Given the description of an element on the screen output the (x, y) to click on. 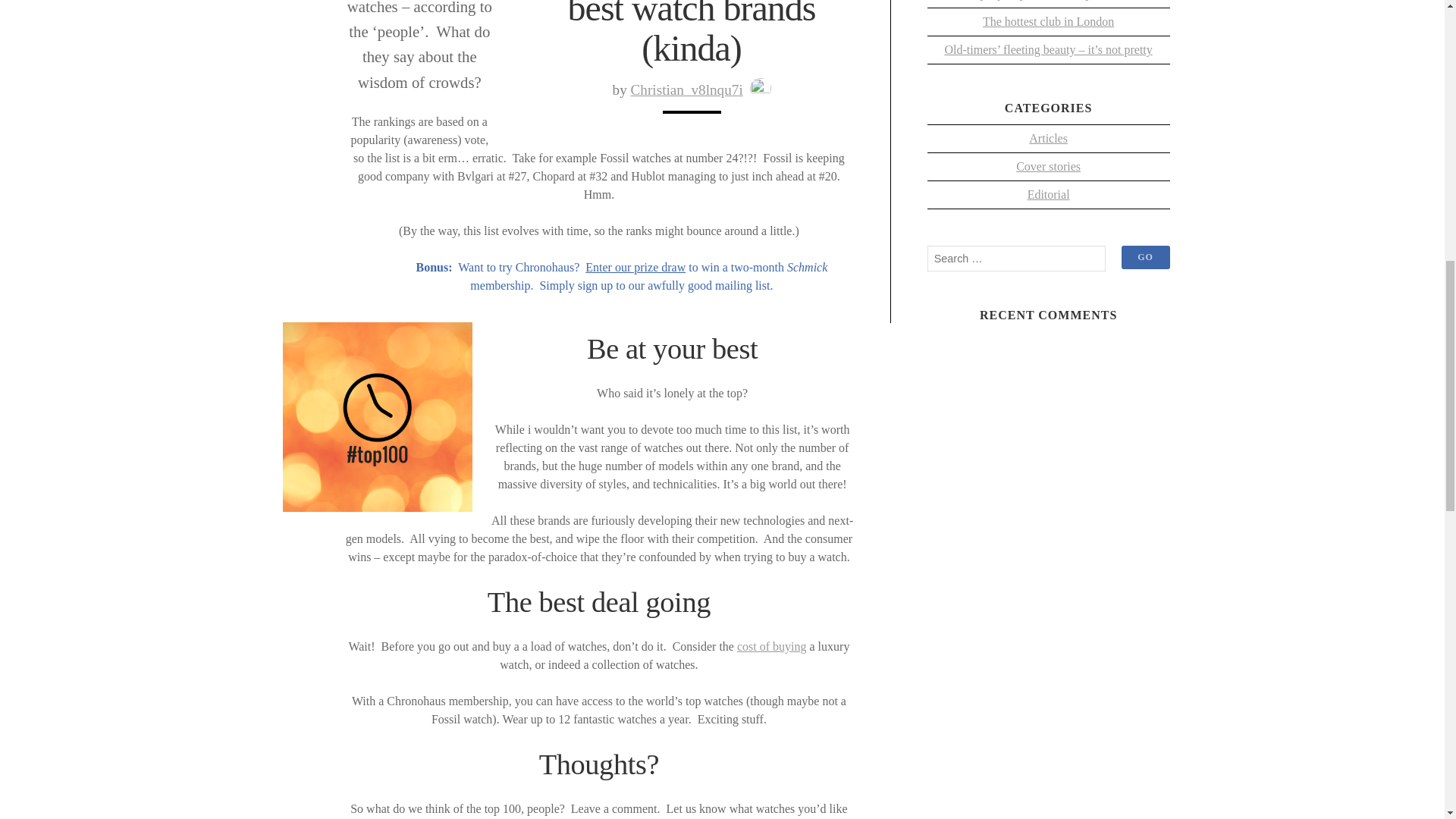
Editorial (1048, 194)
The hottest club in London (1047, 22)
Enter our prize draw (635, 267)
cost of buying (771, 645)
Go (1145, 257)
Articles (1048, 138)
Go (1145, 257)
Cover stories (1048, 166)
